Given the description of an element on the screen output the (x, y) to click on. 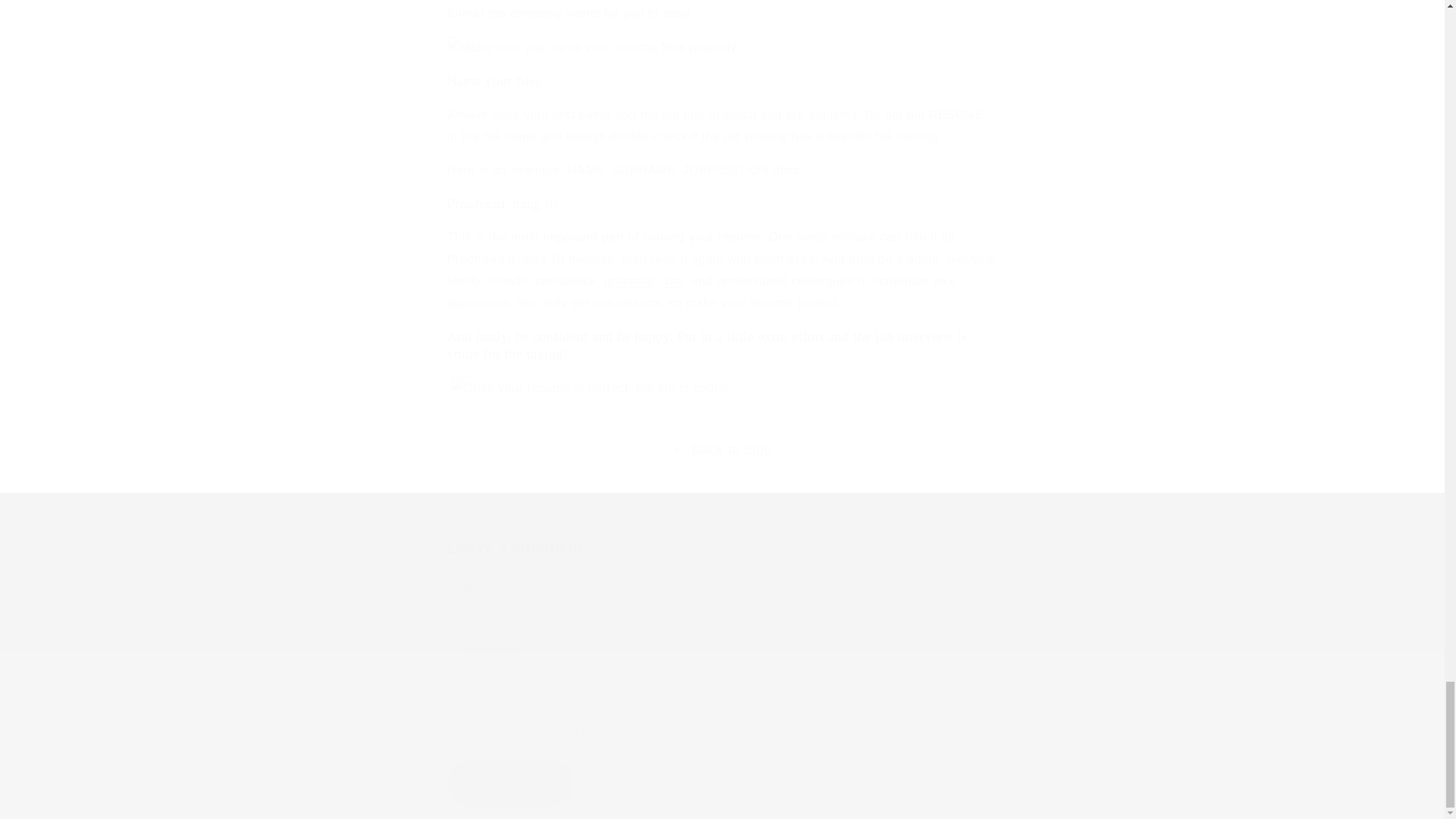
Post comment (510, 782)
